Given the description of an element on the screen output the (x, y) to click on. 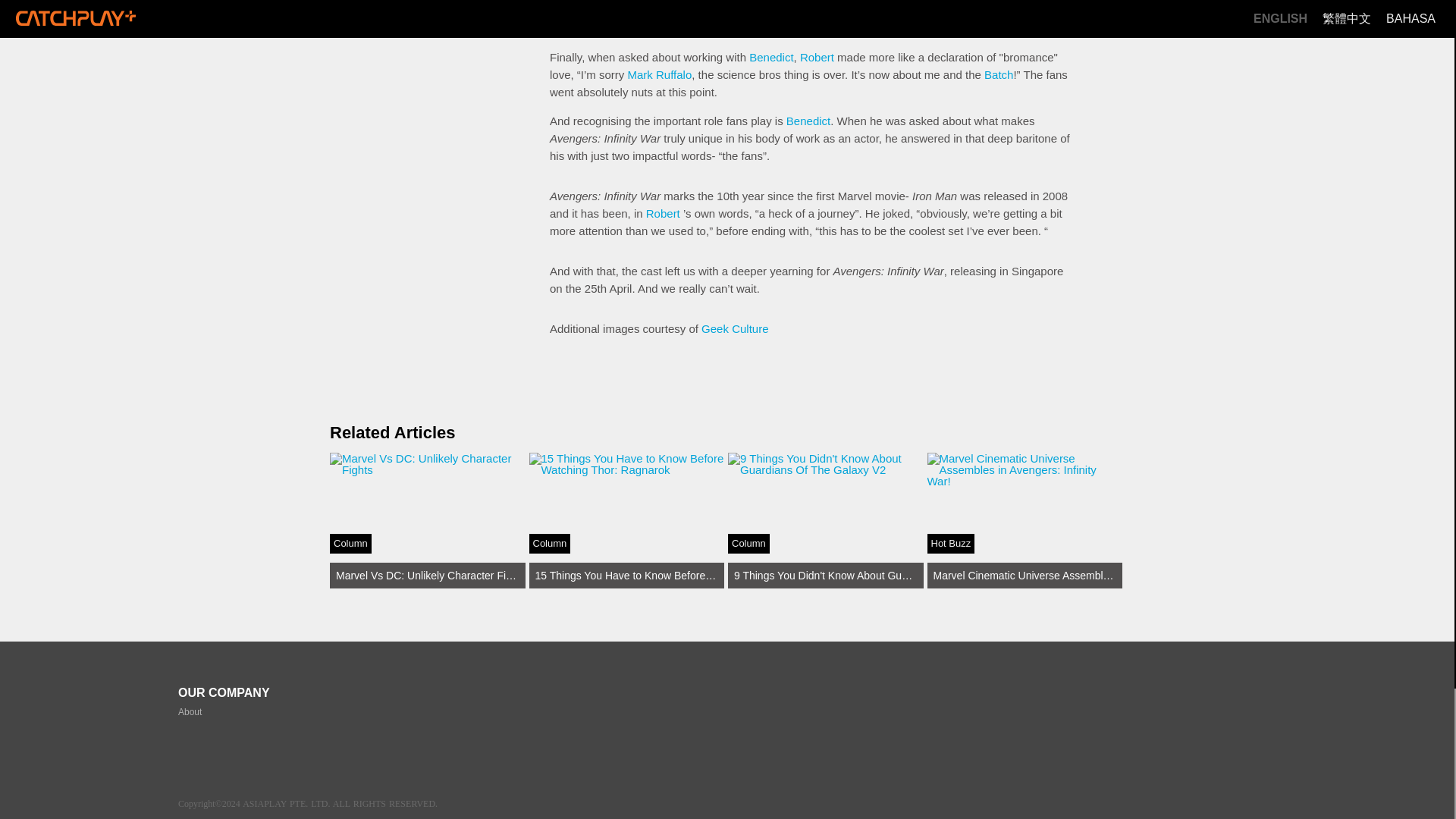
Robert (662, 213)
Benedict (771, 56)
Mark Ruffalo (660, 74)
Benedict (427, 520)
Robert (807, 120)
About (816, 56)
Batch (189, 711)
Geek Culture (998, 74)
